Given the description of an element on the screen output the (x, y) to click on. 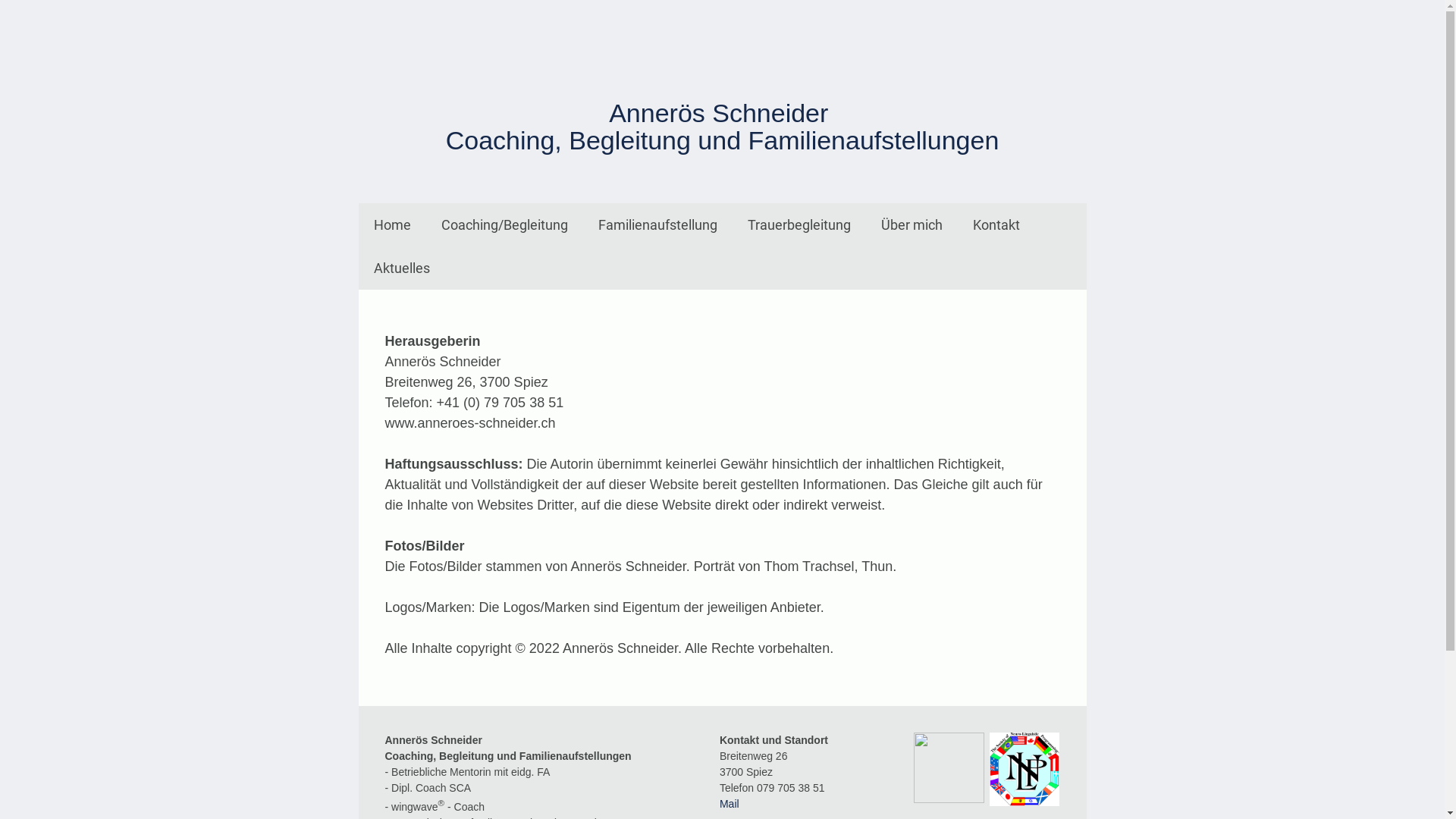
Coaching/Begleitung Element type: text (504, 224)
Trauerbegleitung Element type: text (799, 224)
Familienaufstellung Element type: text (656, 224)
Mail Element type: text (729, 803)
Aktuelles Element type: text (400, 267)
Home Element type: text (391, 224)
Kontakt Element type: text (995, 224)
